Given the description of an element on the screen output the (x, y) to click on. 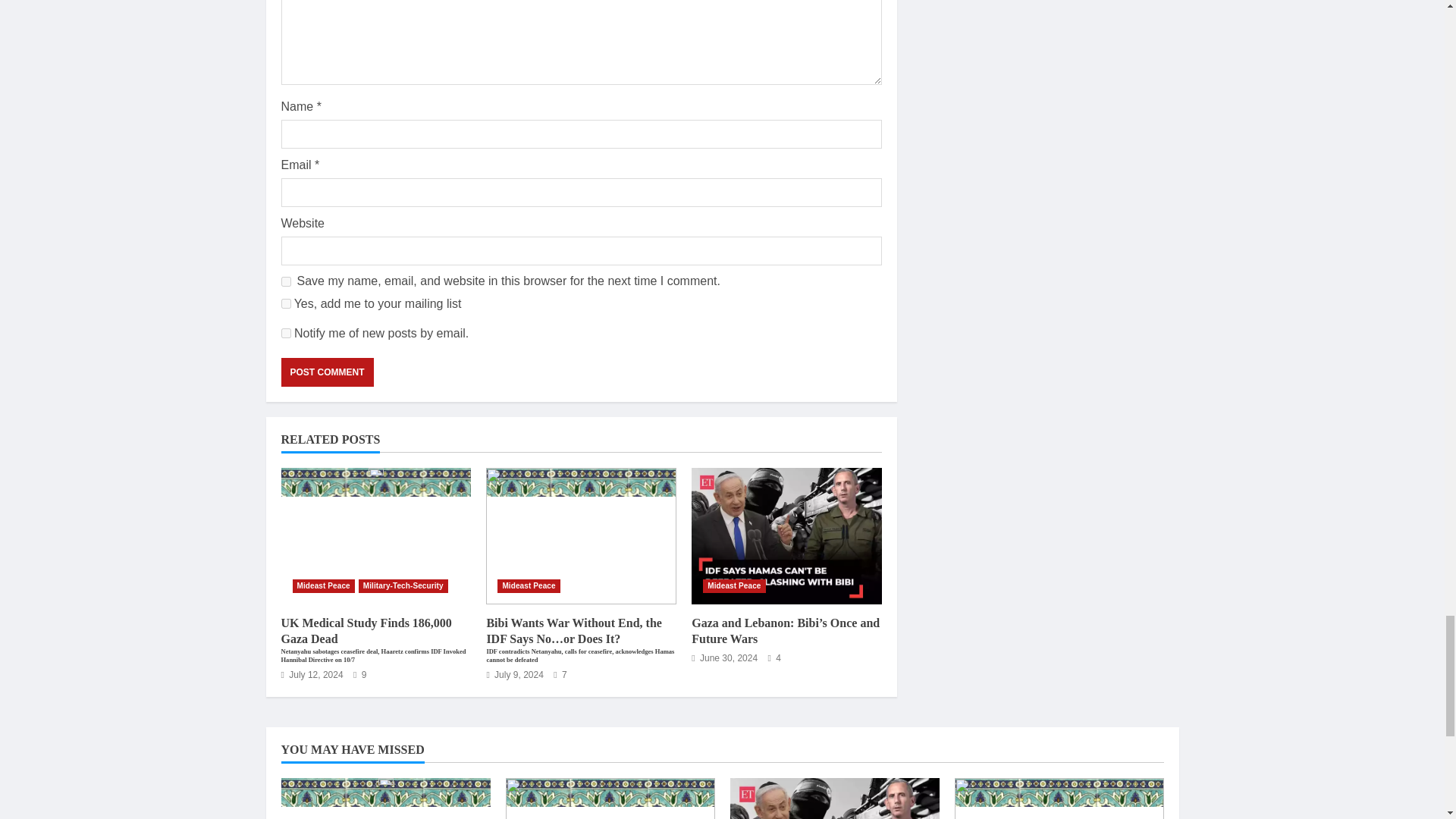
yes (285, 281)
subscribe (285, 333)
Post Comment (326, 371)
1 (285, 303)
